Given the description of an element on the screen output the (x, y) to click on. 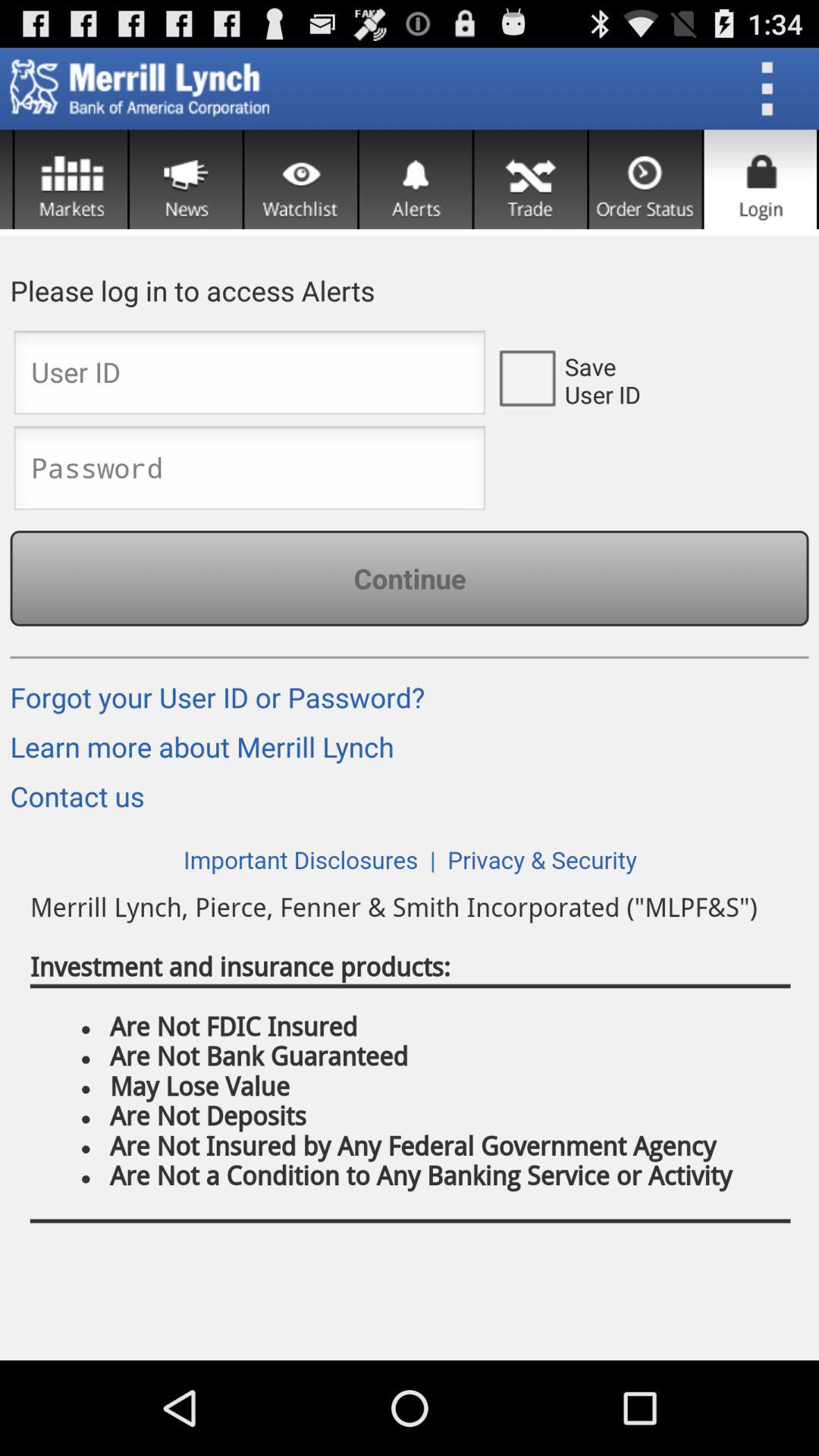
login to app (760, 179)
